Given the description of an element on the screen output the (x, y) to click on. 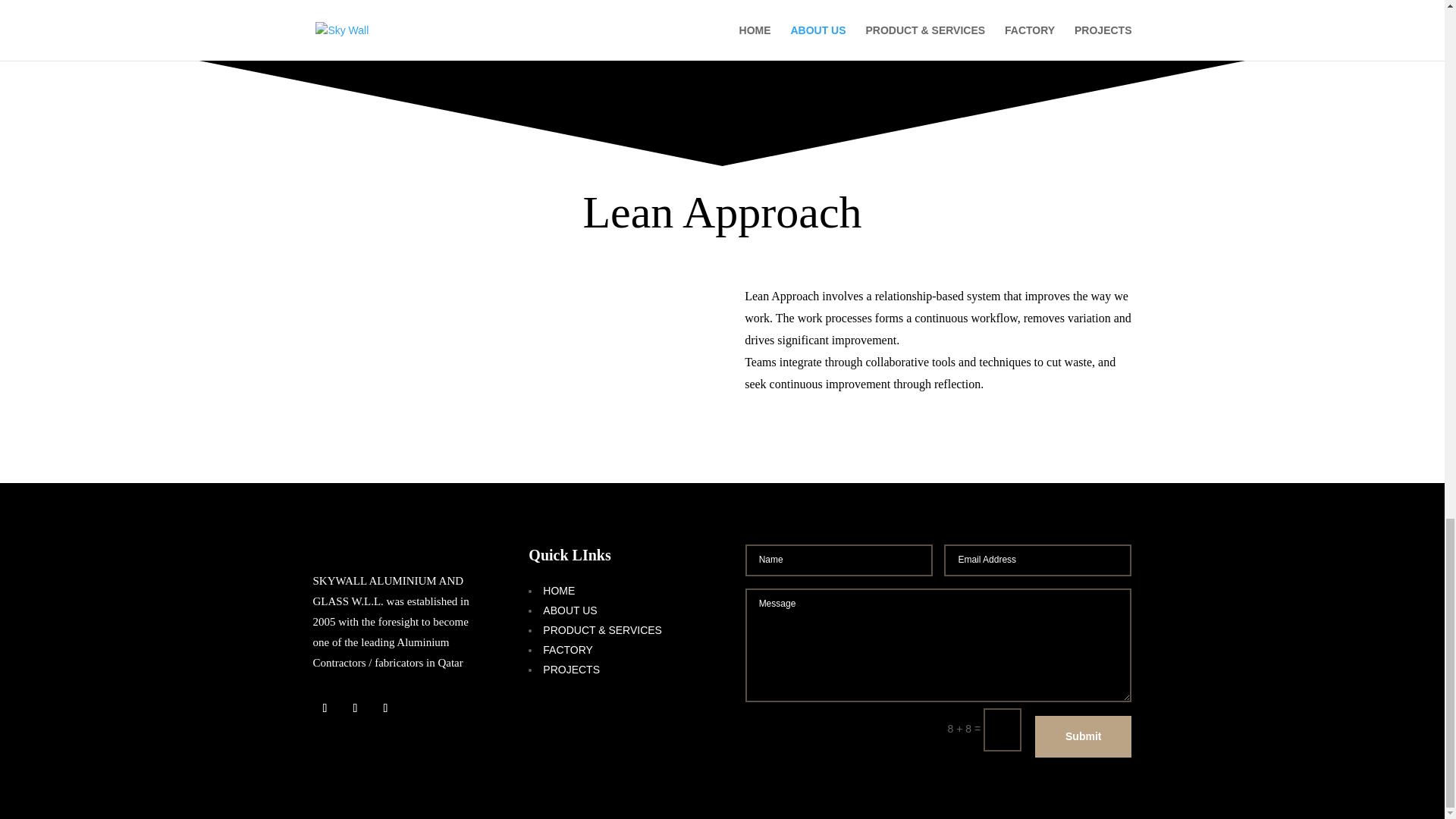
Follow on Twitter (354, 708)
Follow on Instagram (384, 708)
ABOUT US (569, 610)
HOME (559, 590)
FACTORY (567, 649)
Submit (1083, 736)
PROJECTS (571, 669)
Follow on Facebook (324, 708)
